Given the description of an element on the screen output the (x, y) to click on. 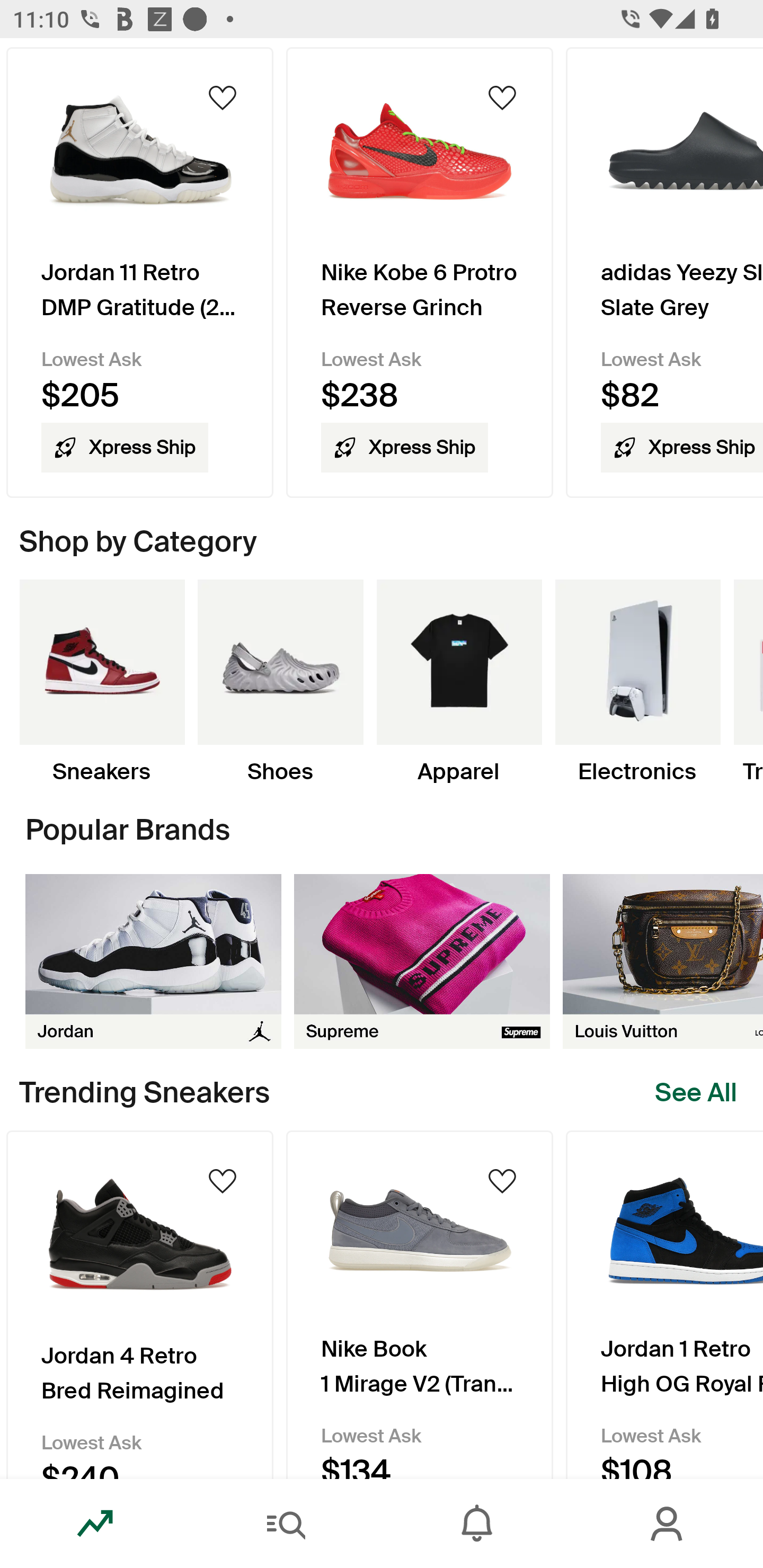
Product Image Sneakers (101, 682)
Product Image Shoes (280, 682)
Product Image Apparel (458, 682)
Product Image Electronics (637, 682)
jordan.jpg (153, 960)
supreme.jpg (421, 960)
lv.jpg (663, 960)
See All (695, 1091)
Search (285, 1523)
Inbox (476, 1523)
Account (667, 1523)
